Given the description of an element on the screen output the (x, y) to click on. 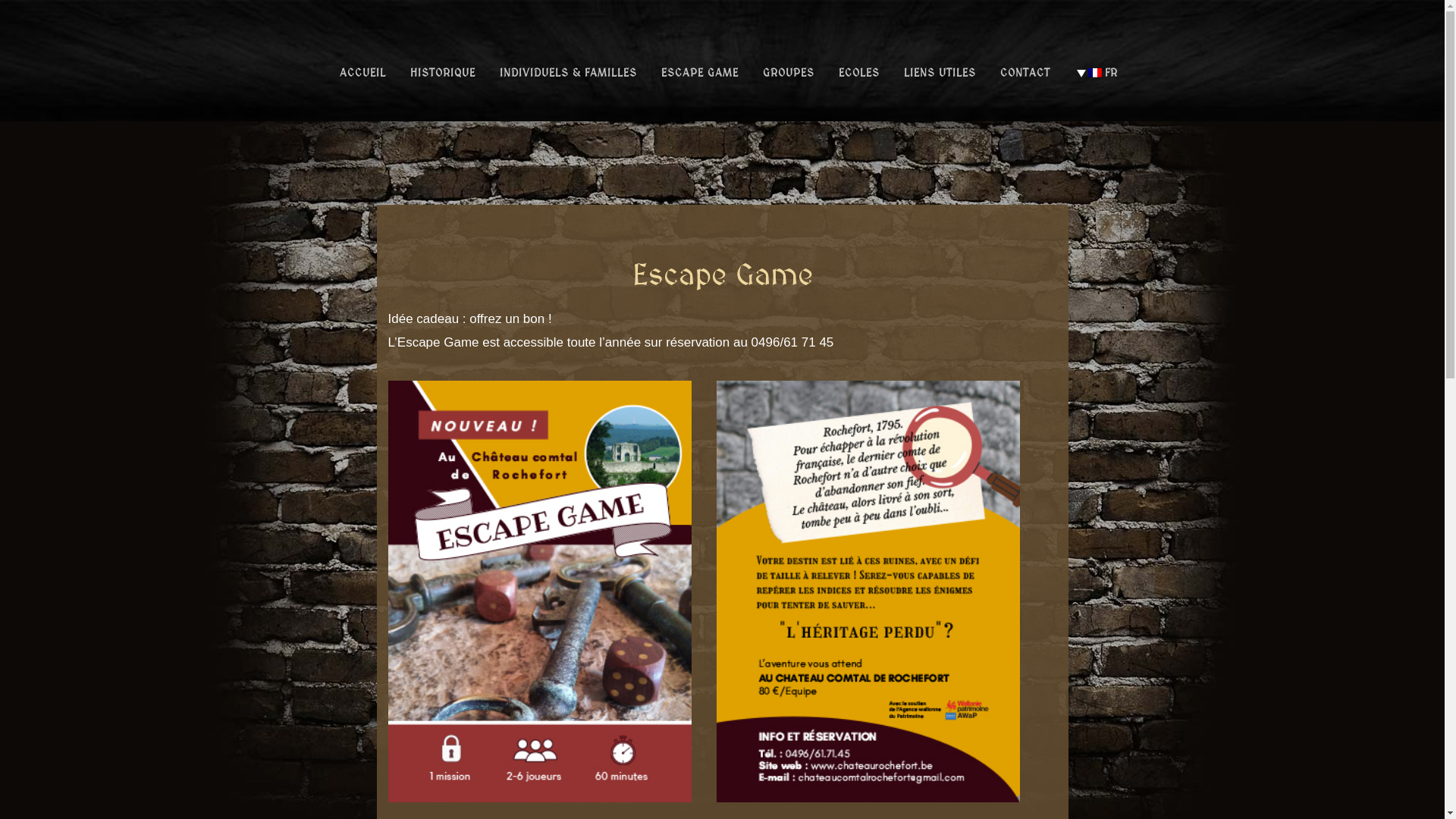
CONTACT Element type: text (1024, 72)
LIENS UTILES Element type: text (939, 72)
ECOLES Element type: text (858, 72)
INDIVIDUELS & FAMILLES Element type: text (567, 72)
HISTORIQUE Element type: text (441, 72)
CHATEAU COMTAL DE ROCHEFORT Element type: text (531, 65)
Skip to content Element type: text (0, 0)
FR Element type: text (1095, 72)
ESCAPE GAME Element type: text (699, 72)
ACCUEIL Element type: text (362, 72)
GROUPES Element type: text (788, 72)
